Given the description of an element on the screen output the (x, y) to click on. 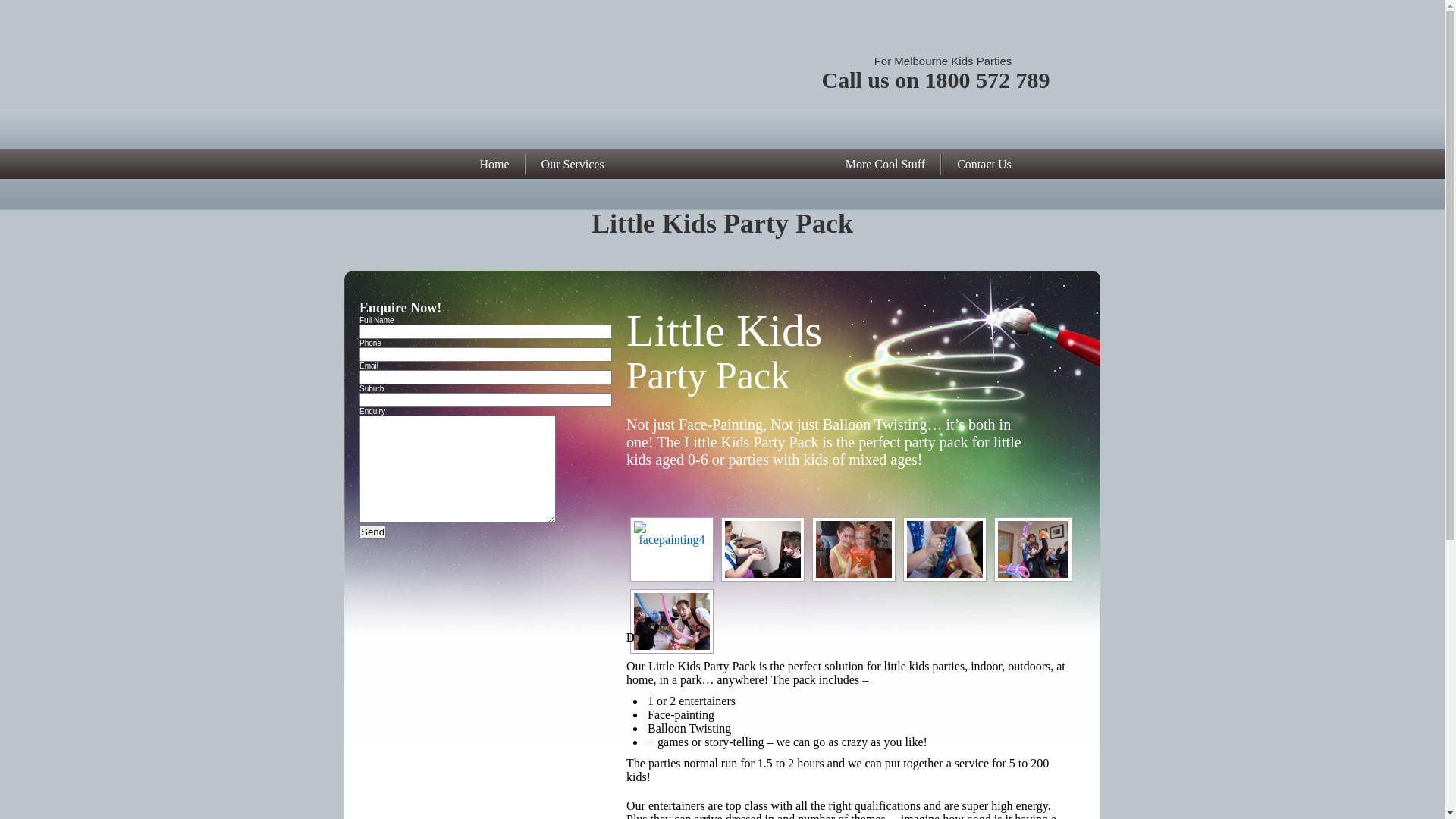
Contact Us Element type: text (983, 164)
Our Services Element type: text (572, 164)
balloons_1 Element type: hover (671, 621)
facepainting Element type: hover (853, 548)
balloons_or_disco Element type: hover (1032, 548)
Home Element type: text (494, 164)
face_paint_1 Element type: hover (762, 548)
Send Element type: text (372, 531)
facepainting4 Element type: hover (671, 548)
pace_paint_2 Element type: hover (944, 548)
More Cool Stuff Element type: text (885, 164)
